Given the description of an element on the screen output the (x, y) to click on. 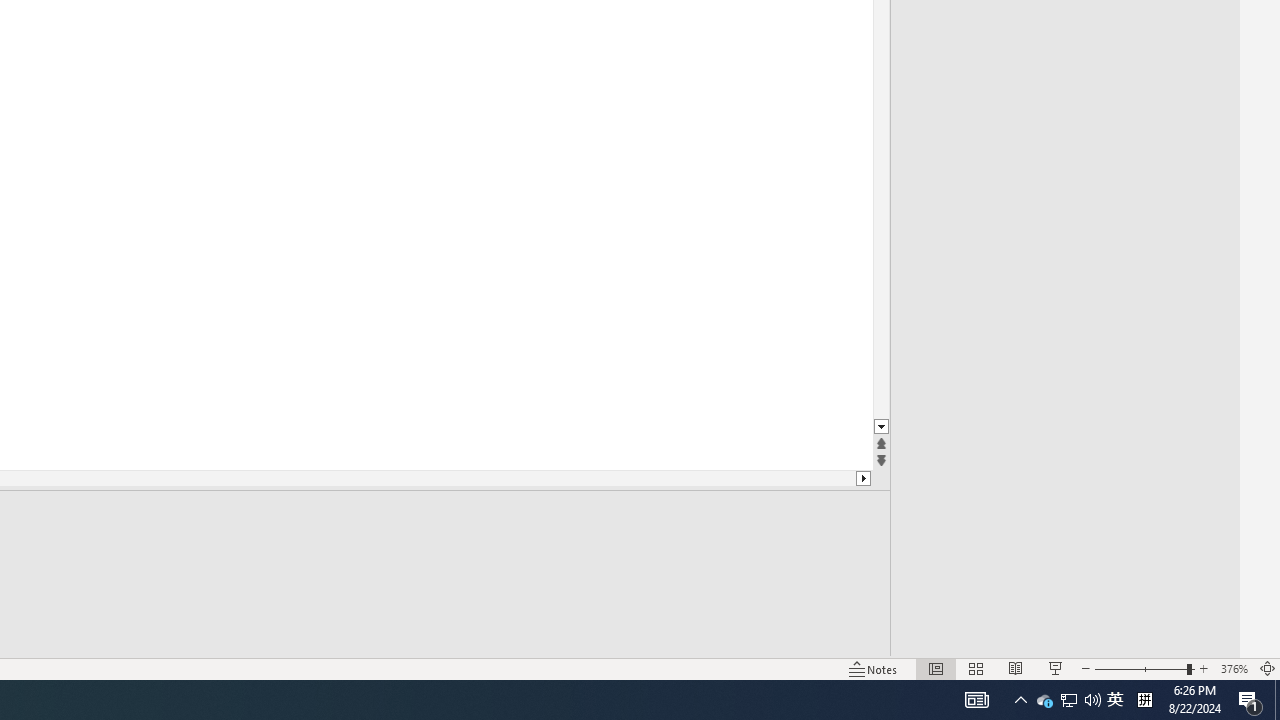
Zoom 376% (1234, 668)
